Given the description of an element on the screen output the (x, y) to click on. 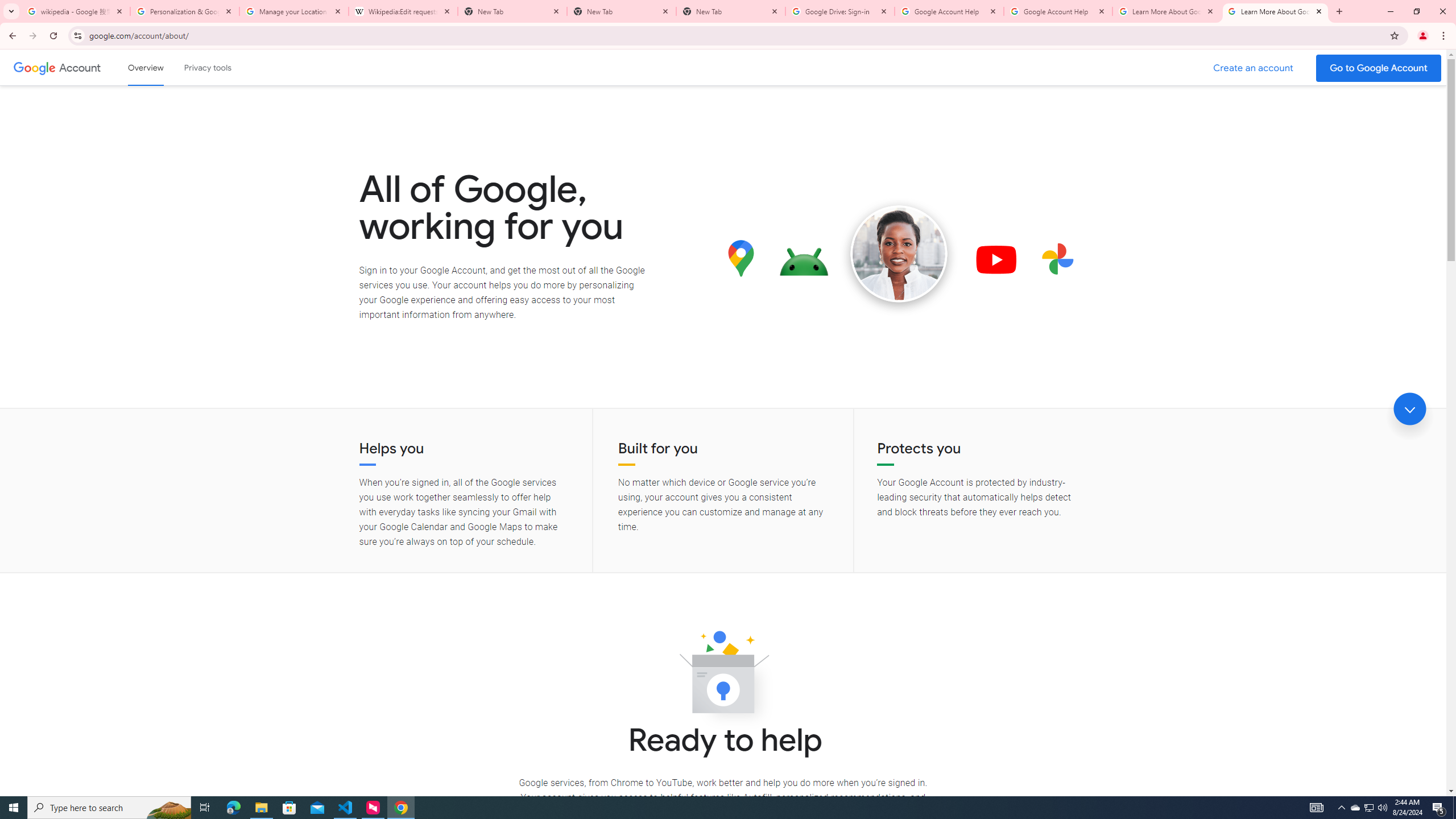
Jump link (1409, 408)
New Tab (730, 11)
Wikipedia:Edit requests - Wikipedia (403, 11)
Personalization & Google Search results - Google Search Help (184, 11)
Google logo (34, 67)
Create a Google Account (1253, 67)
Google Account overview (145, 67)
